Given the description of an element on the screen output the (x, y) to click on. 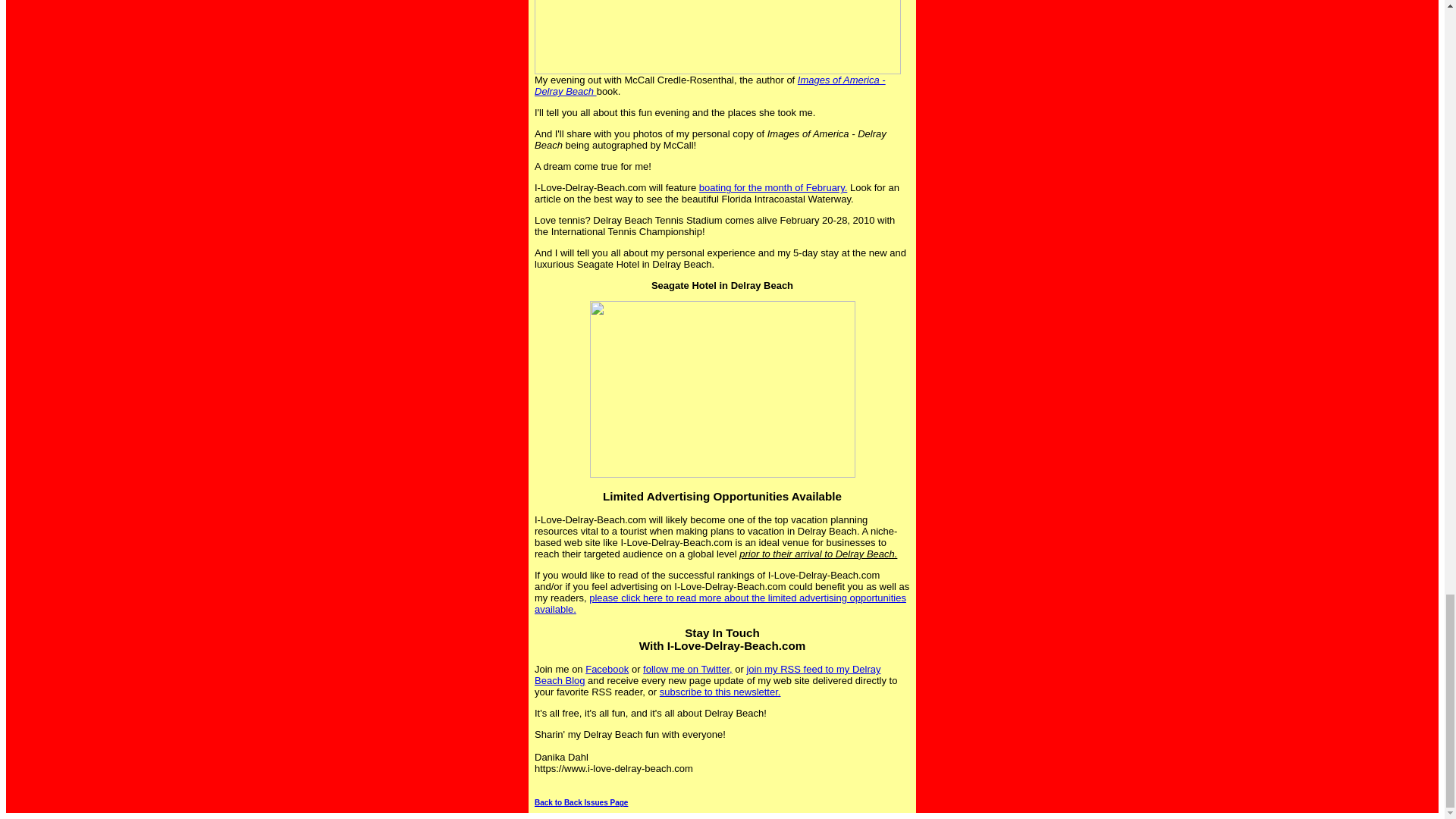
follow me on Twitter, (687, 668)
boating for the month of February. (772, 187)
subscribe to this newsletter. (719, 691)
join my RSS feed to my Delray Beach Blog (707, 674)
Facebook (606, 668)
Back to Back Issues Page (580, 802)
Images of America - Delray Beach (709, 85)
